Given the description of an element on the screen output the (x, y) to click on. 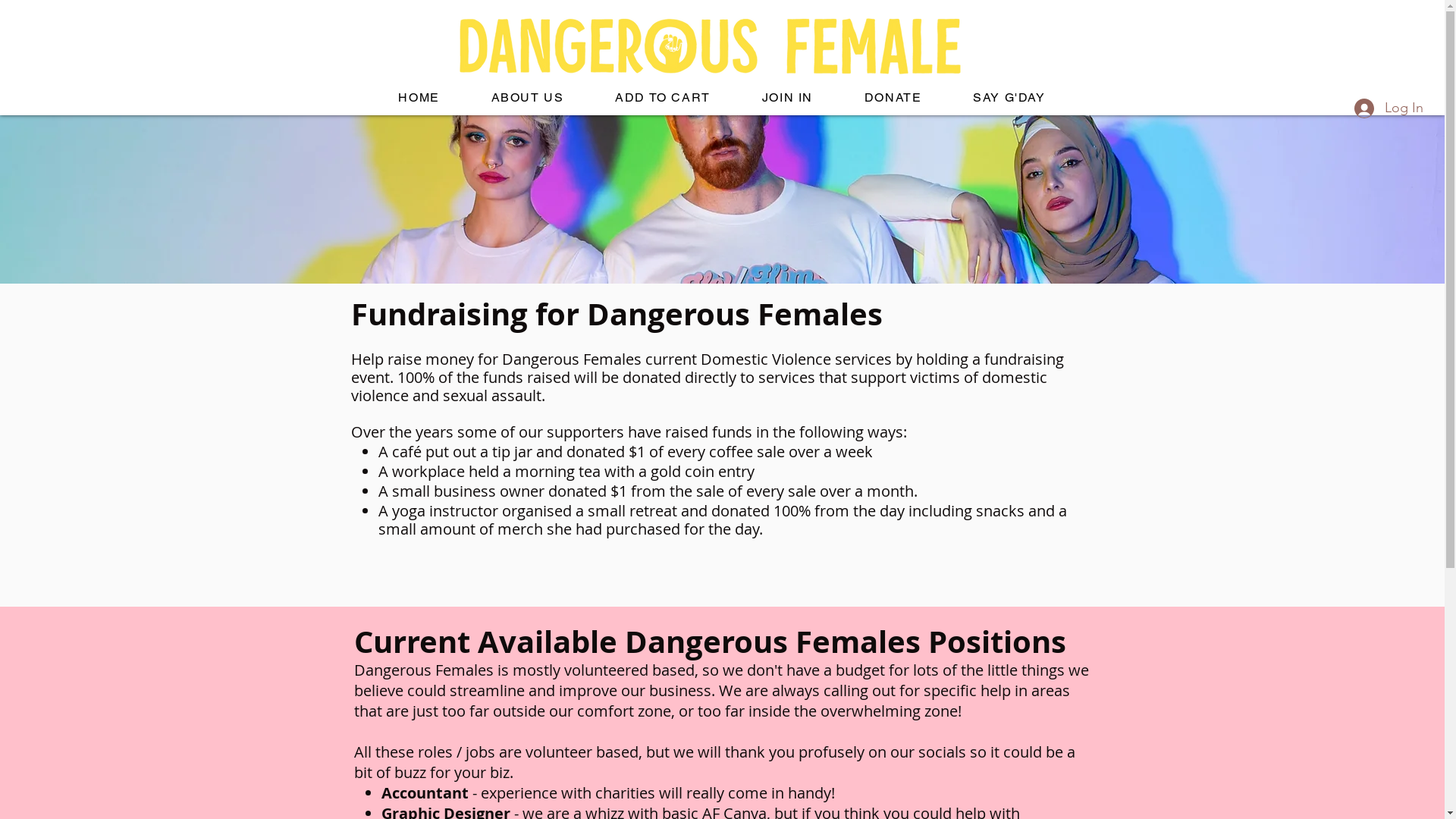
ADD TO CART Element type: text (662, 97)
DONATE Element type: text (892, 97)
Log In Element type: text (1388, 108)
HOME Element type: text (419, 97)
ABOUT US Element type: text (527, 97)
34AE46EA-4E65-4B66-B9BE-D9C48770C7D0.jpg Element type: hover (607, 43)
JOIN IN Element type: text (787, 97)
SAY G'DAY Element type: text (1008, 97)
